Given the description of an element on the screen output the (x, y) to click on. 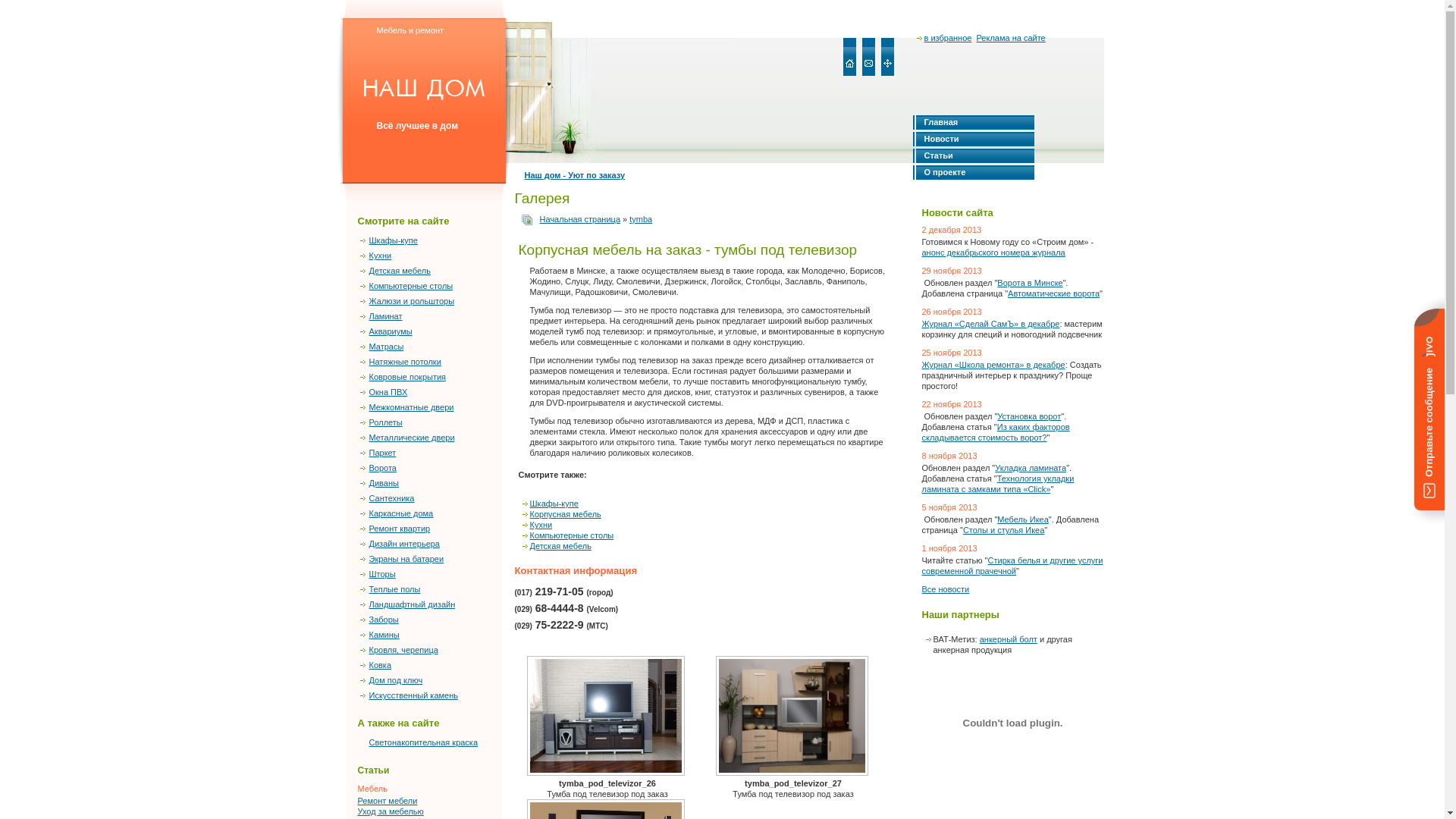
tymba Element type: text (640, 218)
